Given the description of an element on the screen output the (x, y) to click on. 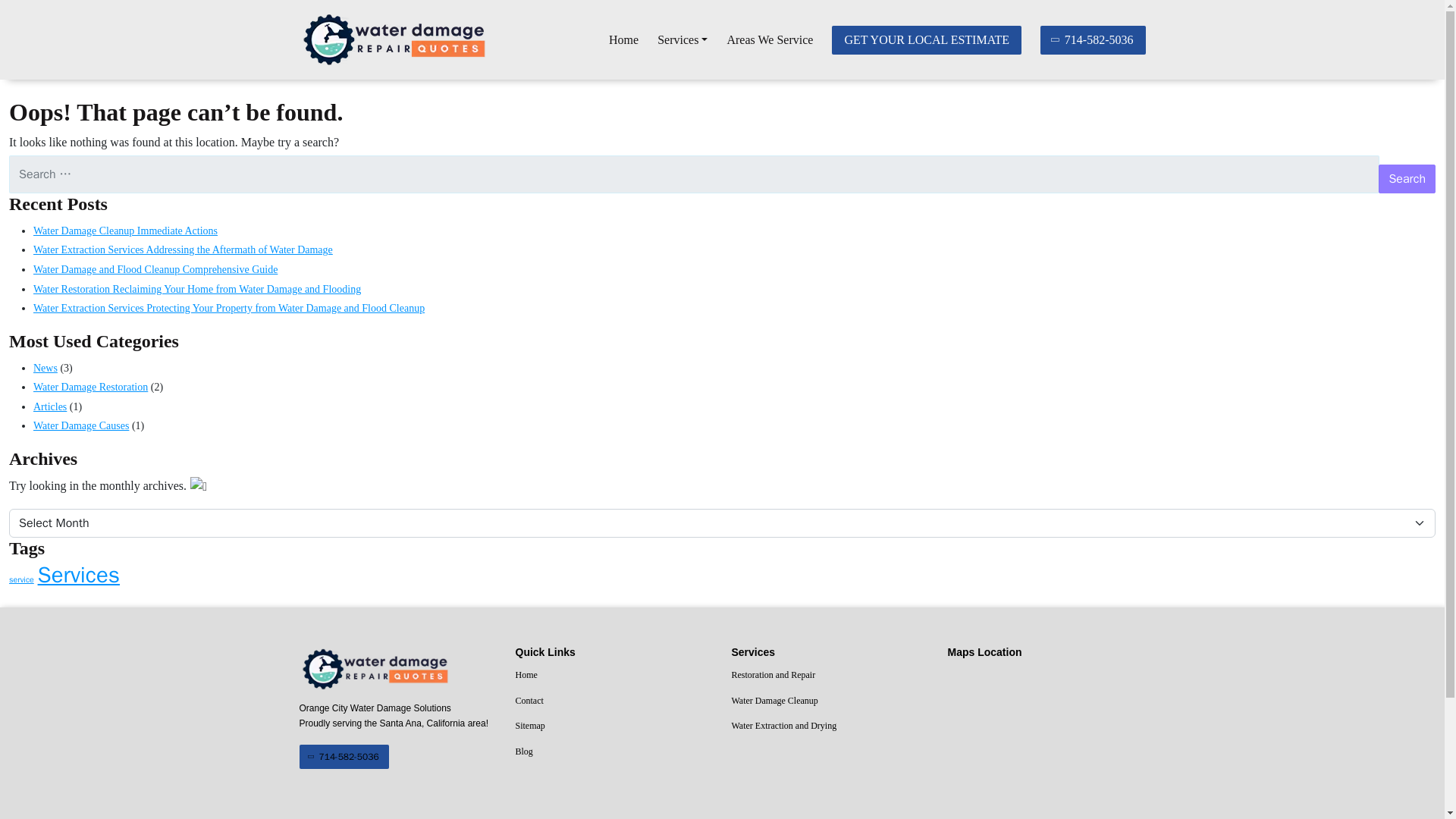
714-582-5036 (343, 756)
Services (682, 40)
Home (614, 675)
GET YOUR LOCAL ESTIMATE (926, 39)
Restoration and Repair (829, 675)
Search (1406, 178)
News (45, 367)
Sitemap (614, 726)
Home (623, 40)
Water Damage and Flood Cleanup Comprehensive Guide (155, 269)
Services (682, 40)
Water Damage Cleanup Immediate Actions (124, 230)
Areas We Service (769, 40)
